Given the description of an element on the screen output the (x, y) to click on. 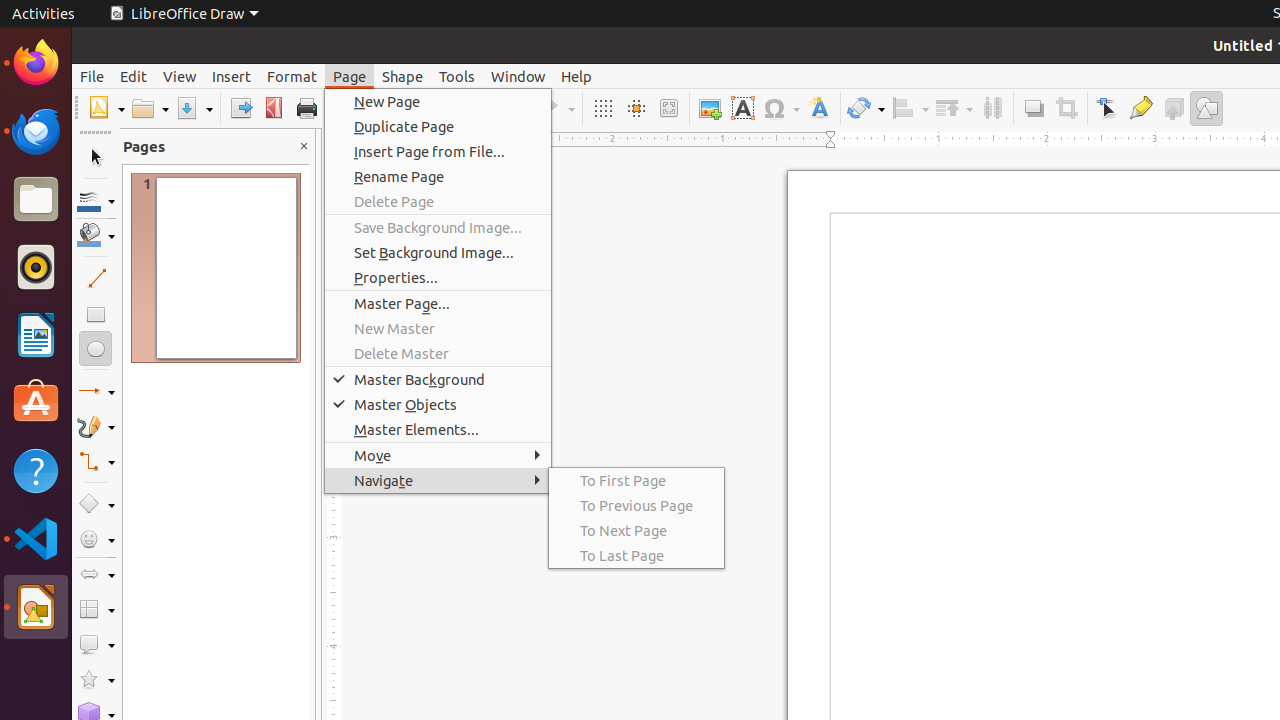
Delete Page Element type: menu-item (438, 201)
New Element type: push-button (106, 108)
Properties... Element type: menu-item (438, 277)
Line Color Element type: push-button (96, 200)
Move Element type: menu (438, 455)
